Given the description of an element on the screen output the (x, y) to click on. 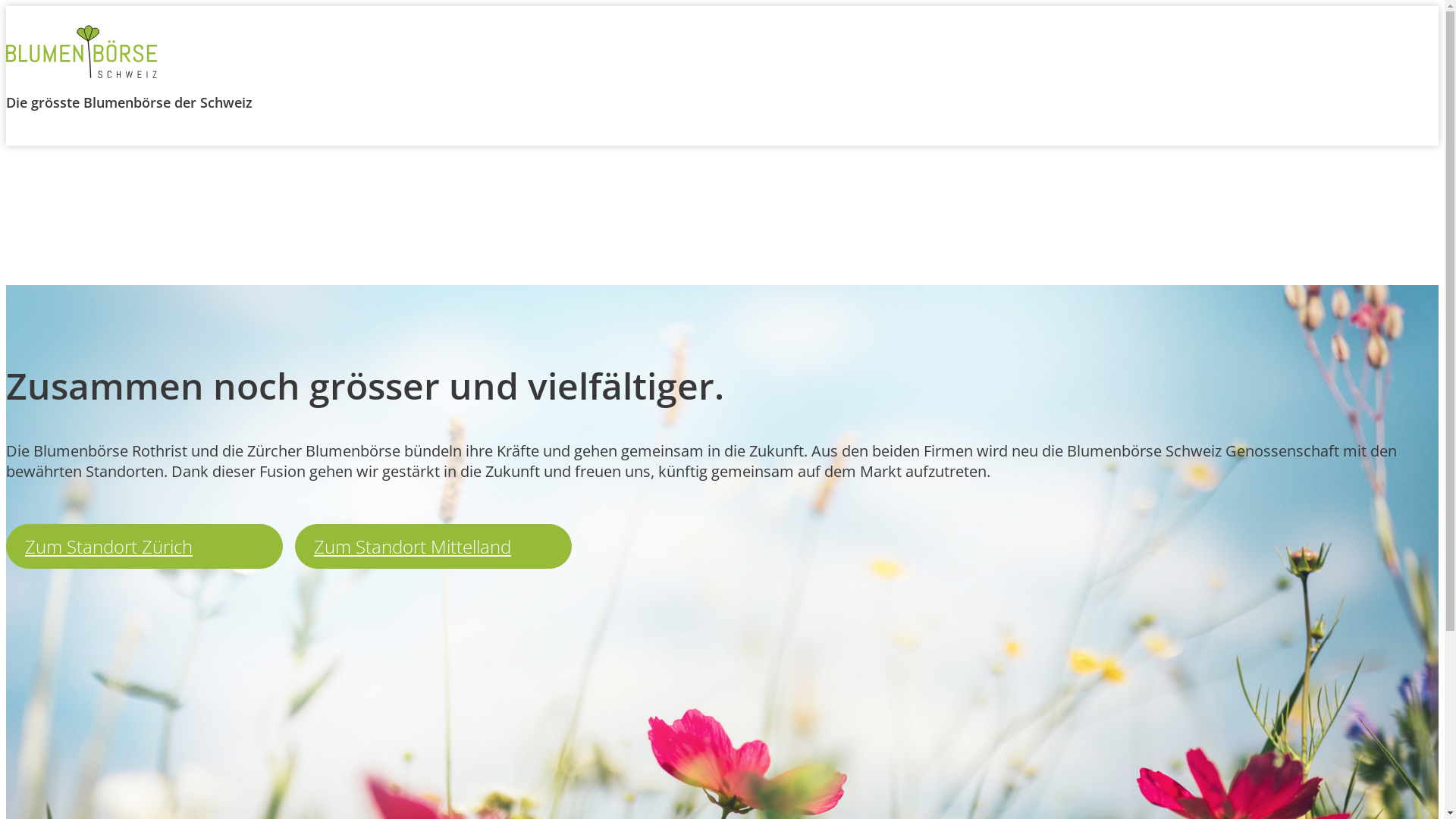
Zum Standort Mittelland Element type: text (432, 546)
